Given the description of an element on the screen output the (x, y) to click on. 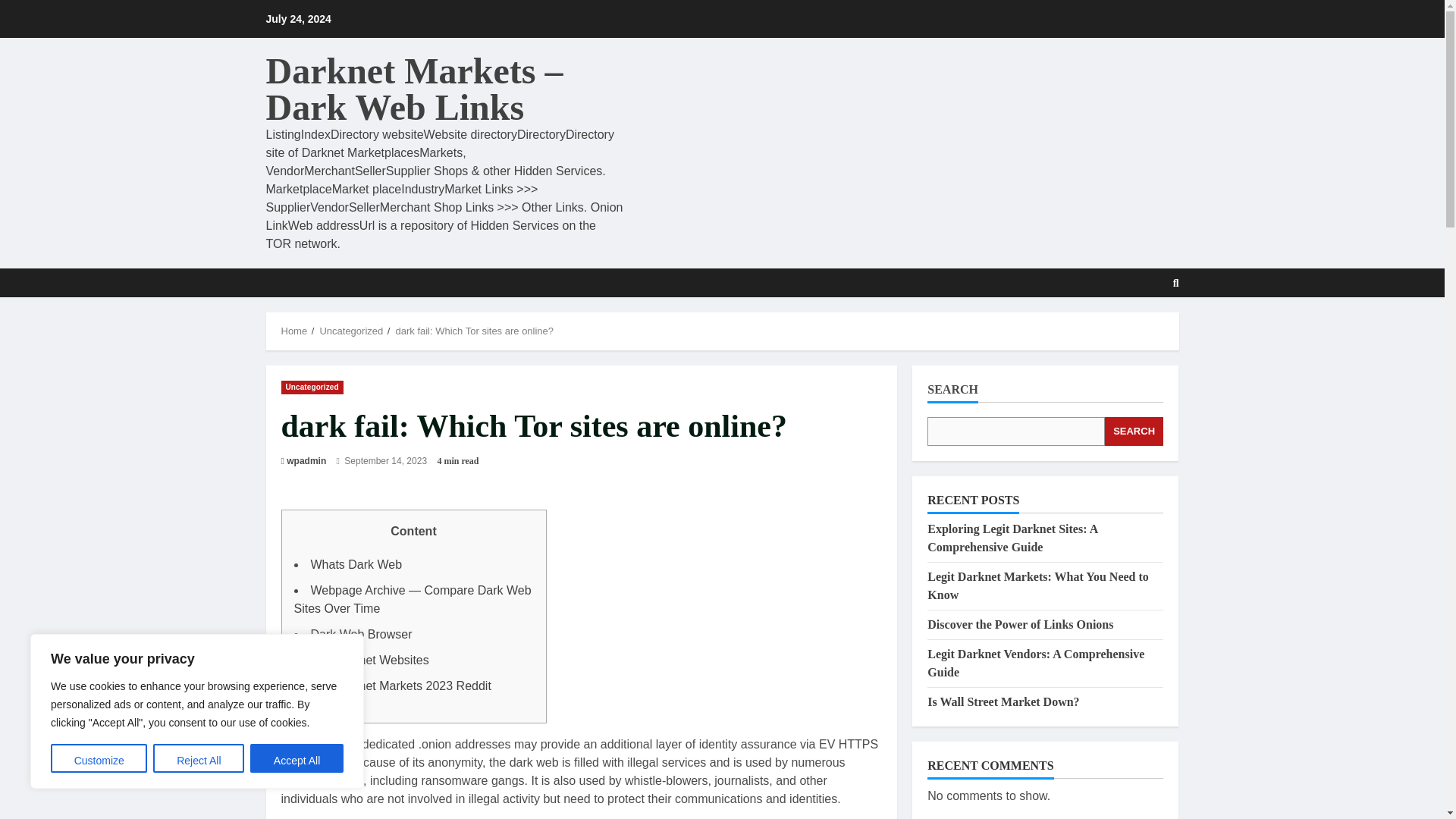
Uncategorized (311, 386)
Accept All (296, 758)
wpadmin (306, 460)
Top Darknet Markets 2023 Reddit (401, 685)
Customize (98, 758)
Top Darknet Websites (370, 659)
Search (1139, 328)
Whats Dark Web (357, 563)
Home (294, 330)
Reject All (198, 758)
Dark Web Browser (361, 634)
Uncategorized (350, 330)
